Given the description of an element on the screen output the (x, y) to click on. 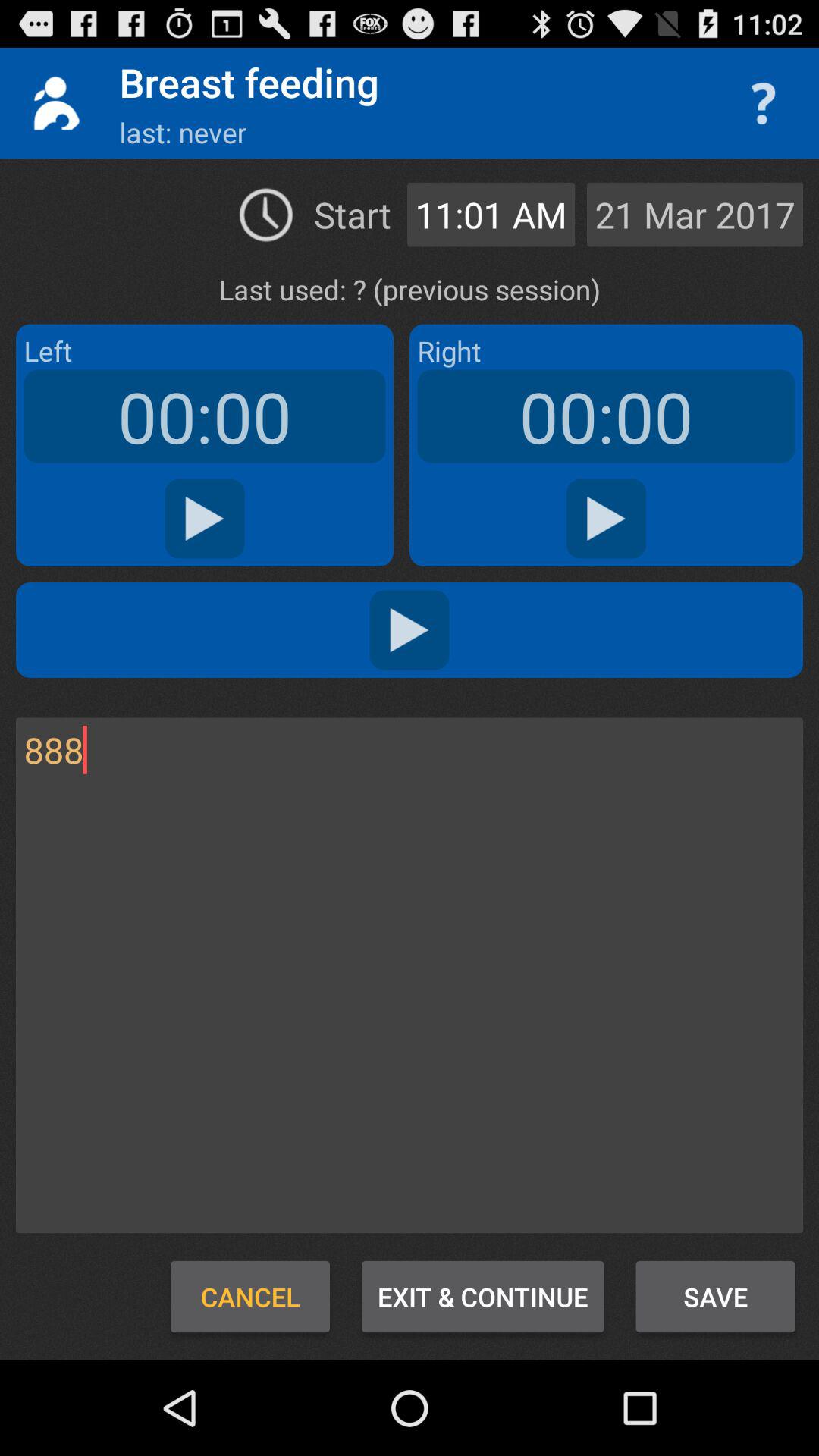
go to play option (204, 518)
